Given the description of an element on the screen output the (x, y) to click on. 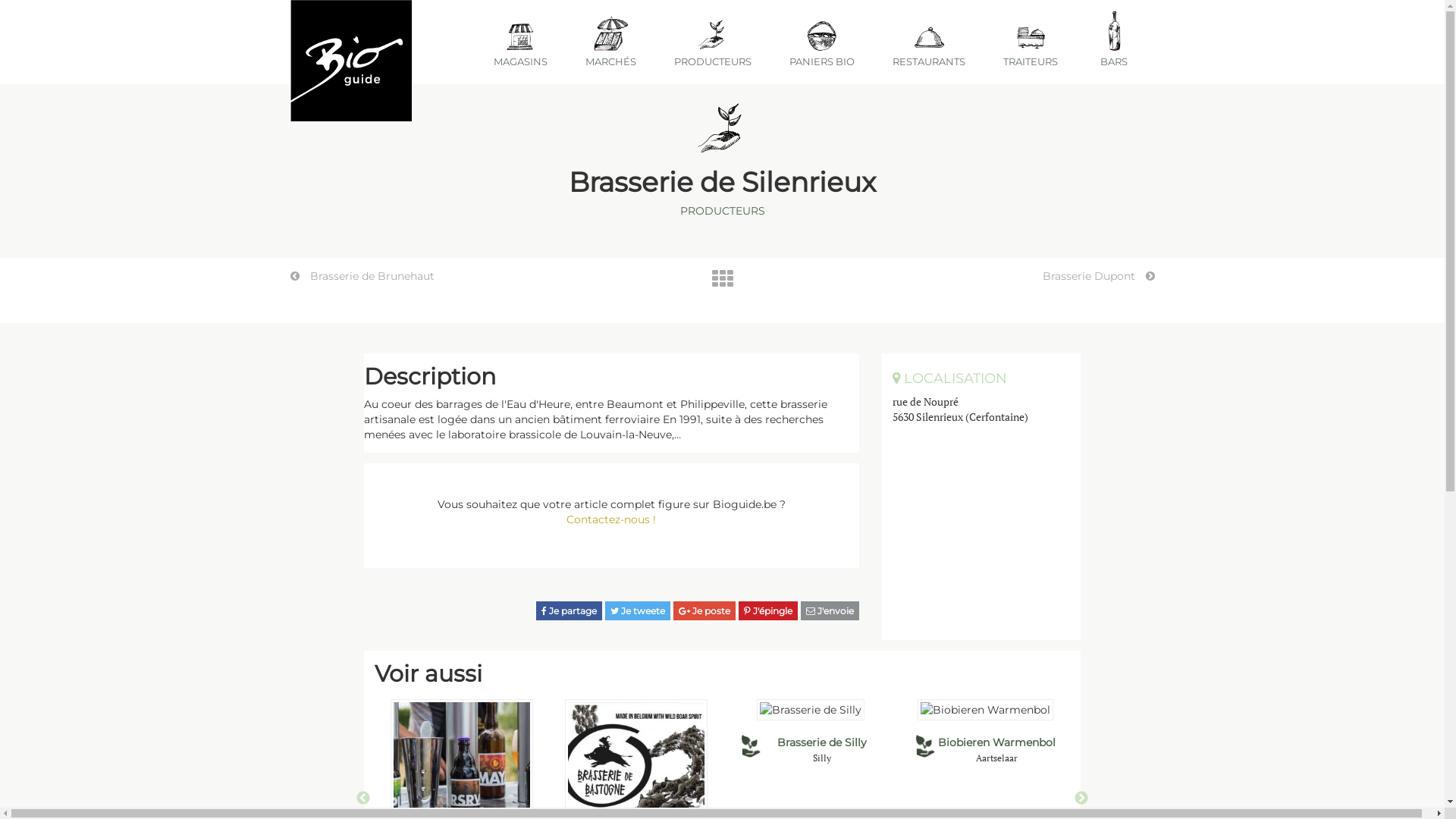
Je poste Element type: text (704, 610)
Previous Element type: text (362, 798)
Biobieren Warmenbol Element type: text (995, 742)
RESTAURANTS Element type: text (931, 42)
Next Element type: text (1080, 798)
Brasserie de Brunehaut Element type: text (361, 275)
Brasserie de Silly Element type: text (821, 742)
TRAITEURS Element type: text (1033, 42)
BARS Element type: text (1116, 42)
PANIERS BIO Element type: text (824, 42)
Brasserie Dupont Element type: text (1097, 275)
Je partage Element type: text (568, 610)
MAGASINS Element type: text (523, 42)
PRODUCTEURS Element type: text (715, 42)
Je tweete Element type: text (637, 610)
Contactez-nous ! Element type: text (610, 519)
J'envoie Element type: text (829, 610)
PRODUCTEURS Element type: text (721, 210)
